Given the description of an element on the screen output the (x, y) to click on. 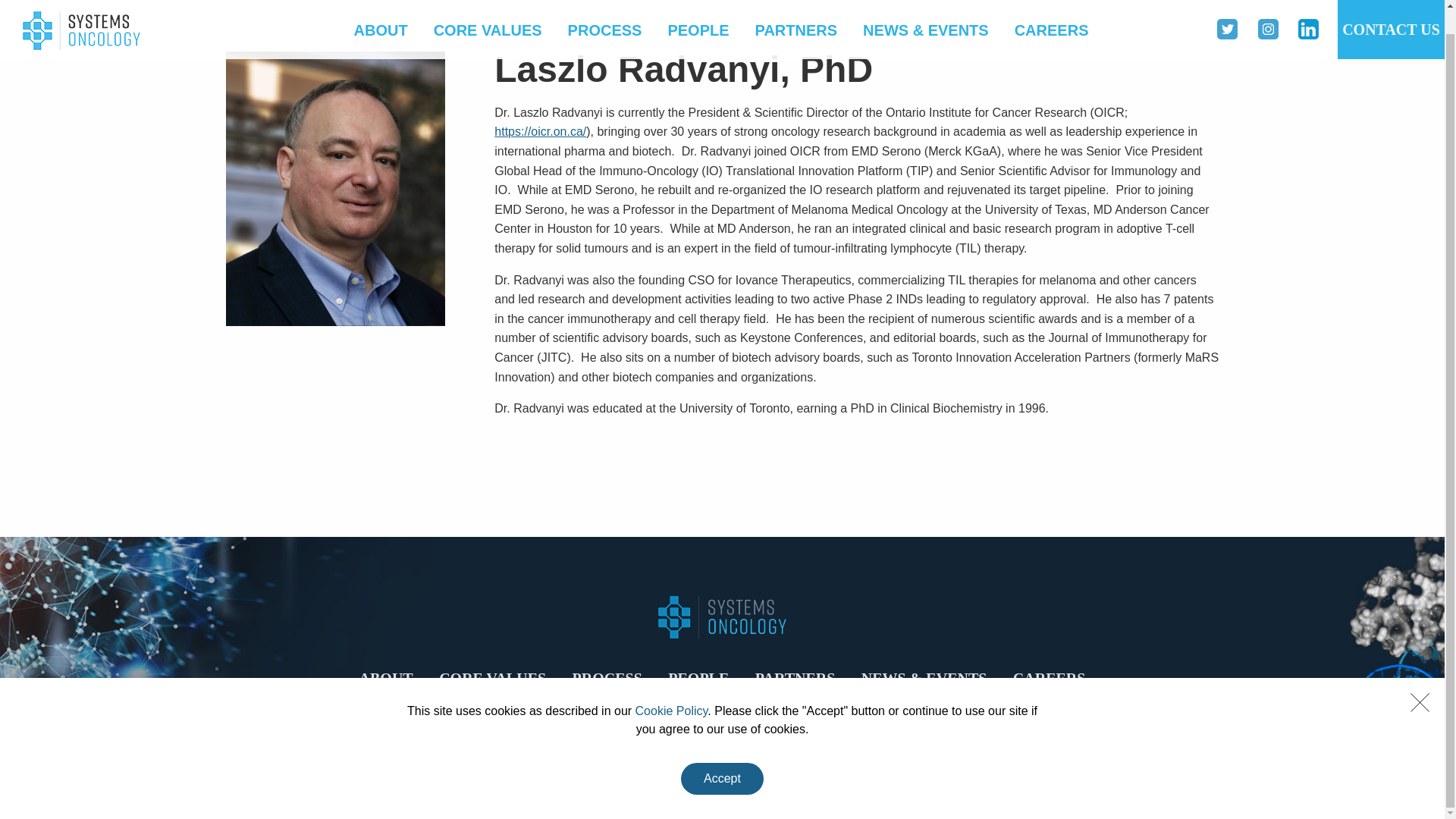
Cookie Policy (670, 686)
CAREERS (1049, 678)
PROCESS (604, 9)
Accept (721, 754)
PEOPLE (697, 678)
PARTNERS (795, 678)
PARTNERS (796, 9)
systems-oncology (81, 6)
CORE VALUES (492, 678)
CAREERS (1051, 9)
PROCESS (606, 678)
Privacy Policy (721, 802)
CORE VALUES (487, 9)
Laszlo Radvanyi, PhD (360, 263)
ABOUT (386, 678)
